Given the description of an element on the screen output the (x, y) to click on. 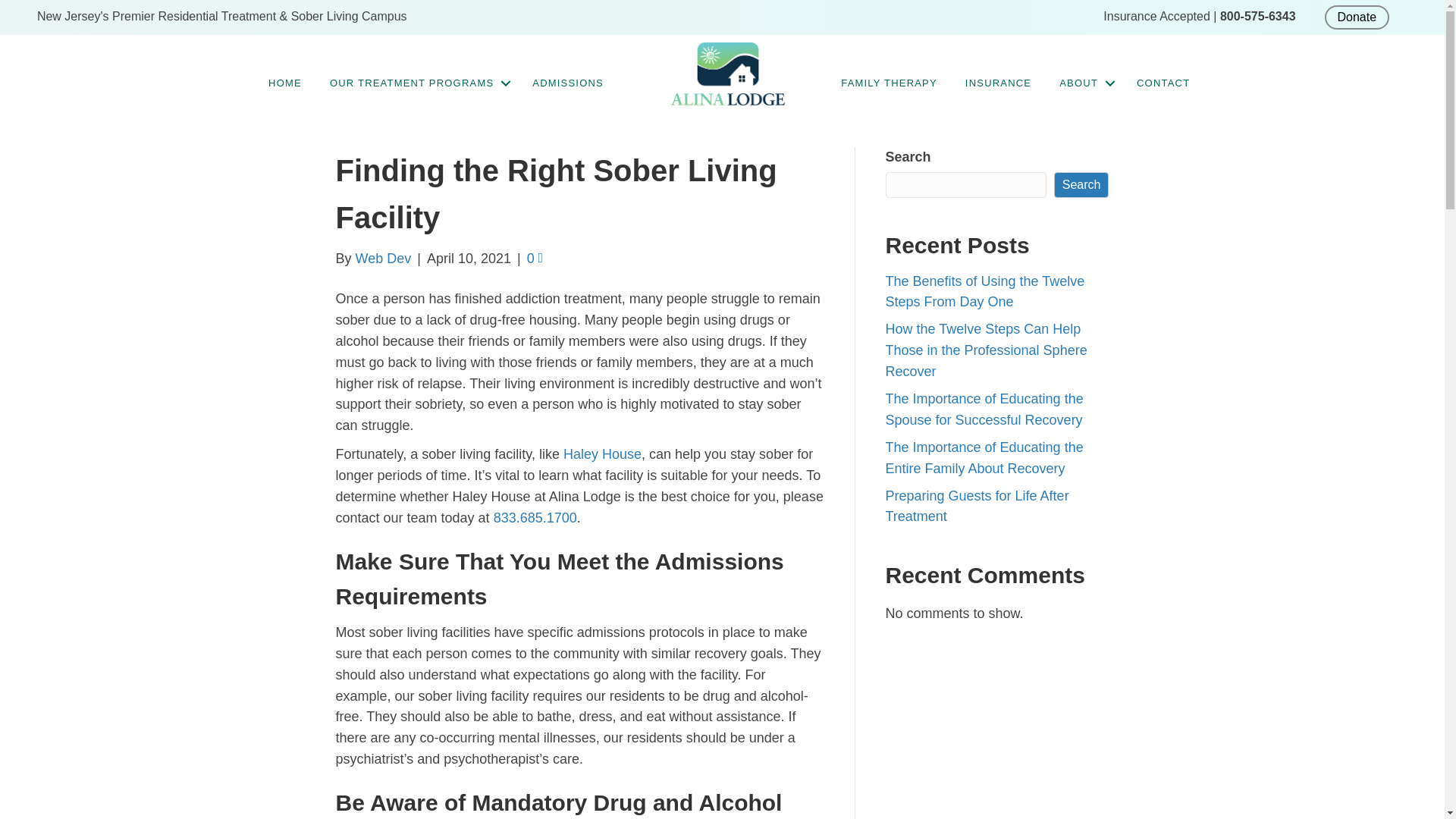
CONTACT (1163, 83)
OUR TREATMENT PROGRAMS (416, 83)
ABOUT (1083, 83)
INSURANCE (998, 83)
alina-lodge-logo (727, 73)
HOME (284, 83)
Donate (1357, 16)
ADMISSIONS (567, 83)
FAMILY THERAPY (888, 83)
800-575-6343 (1257, 15)
